Given the description of an element on the screen output the (x, y) to click on. 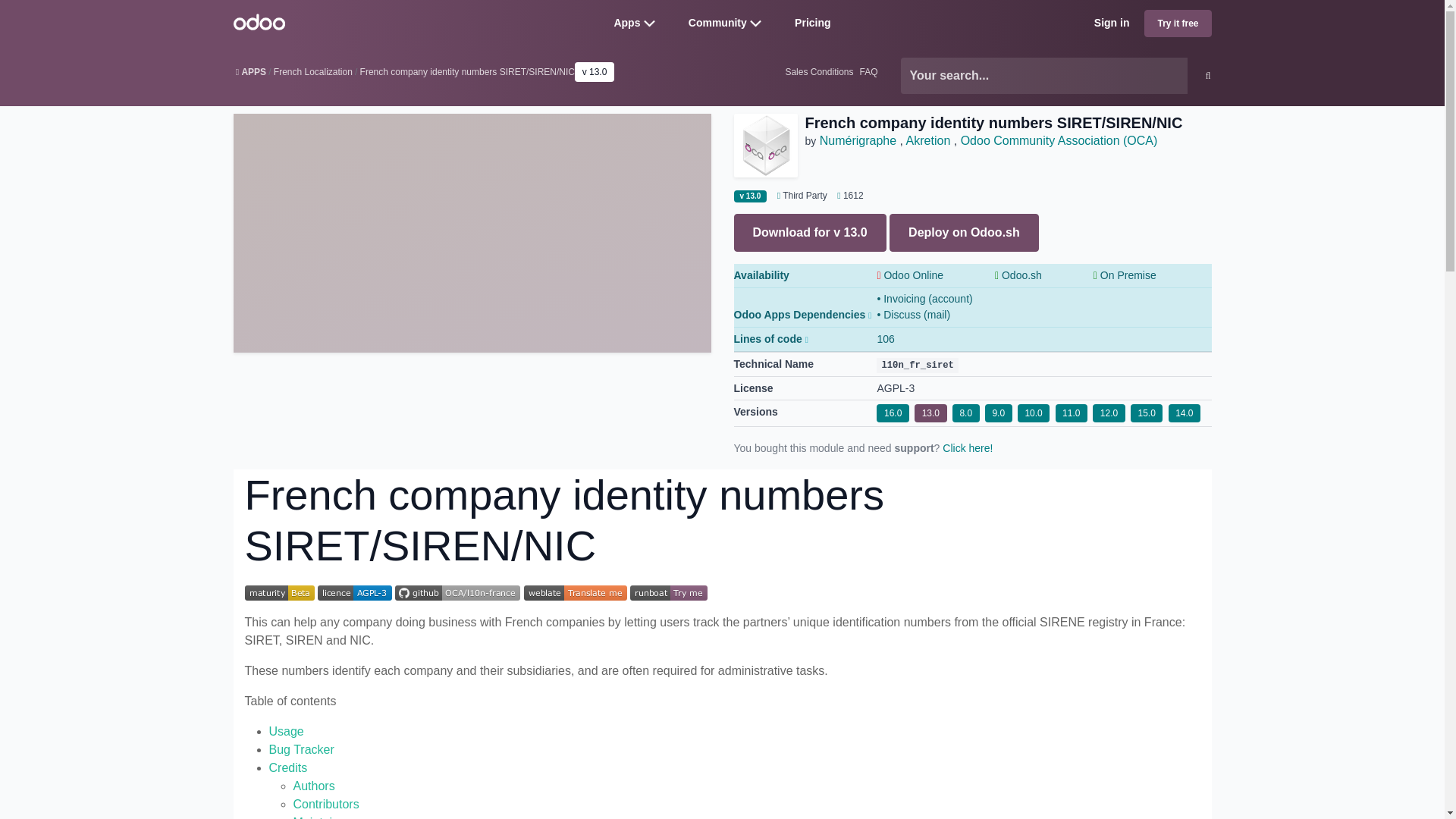
Sign in (1111, 22)
Apps (626, 22)
Odoo (258, 21)
Try it free (1177, 22)
Downloads (846, 195)
